Given the description of an element on the screen output the (x, y) to click on. 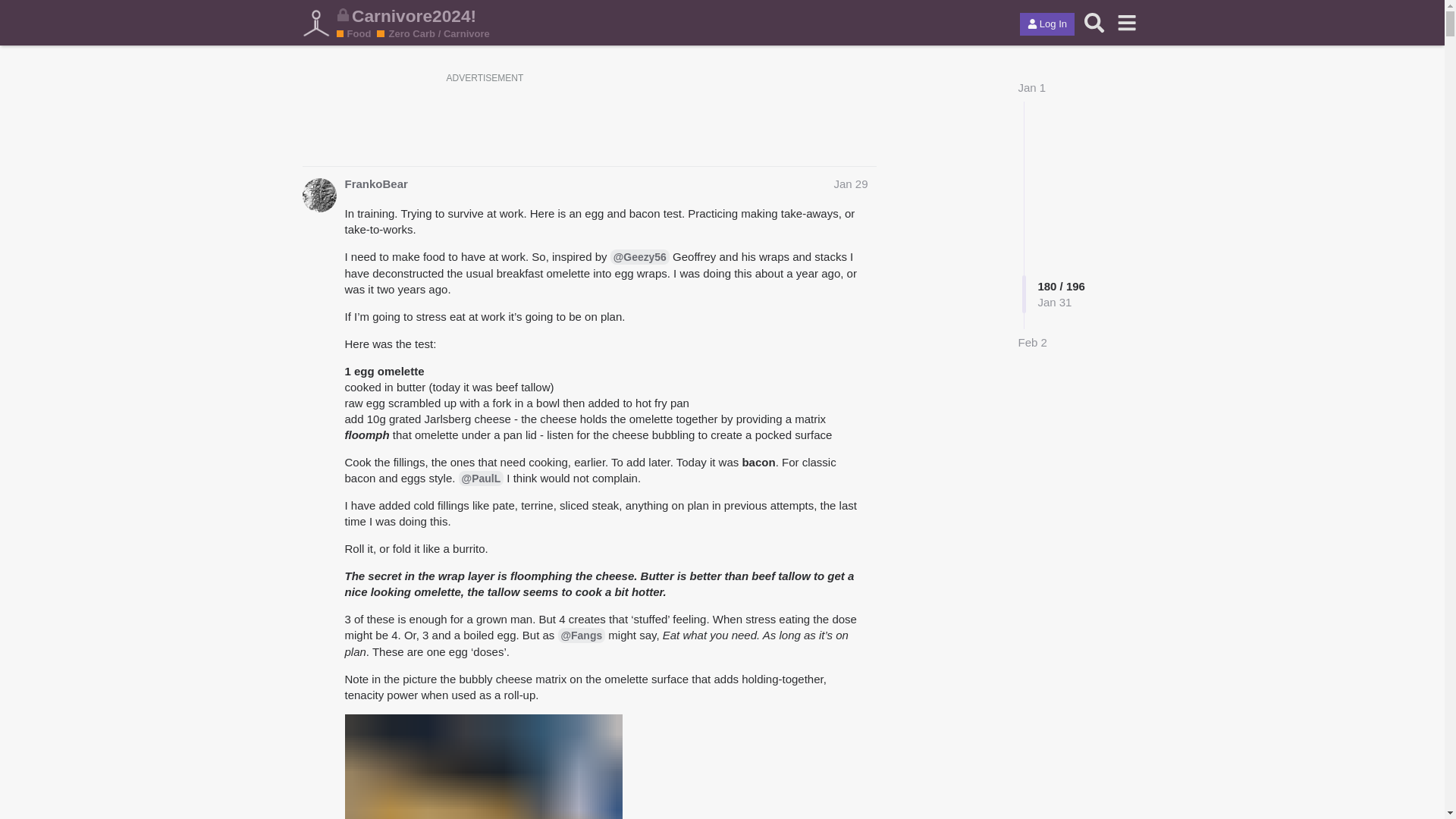
FrankoBear (375, 183)
Log In (1047, 23)
FrankoBear (318, 195)
Feb 2 (1031, 342)
Nom nom nom (359, 33)
Feb 2 (1031, 342)
Food (353, 33)
image.jpg (482, 766)
This topic is closed; it no longer accepts new replies (342, 14)
3rd party ad content (721, 121)
Carnivore2024! (674, 15)
Jan 29 (849, 183)
Jan 1 (1031, 87)
Jan 1 (1031, 87)
go to another topic list or category (1126, 22)
